Given the description of an element on the screen output the (x, y) to click on. 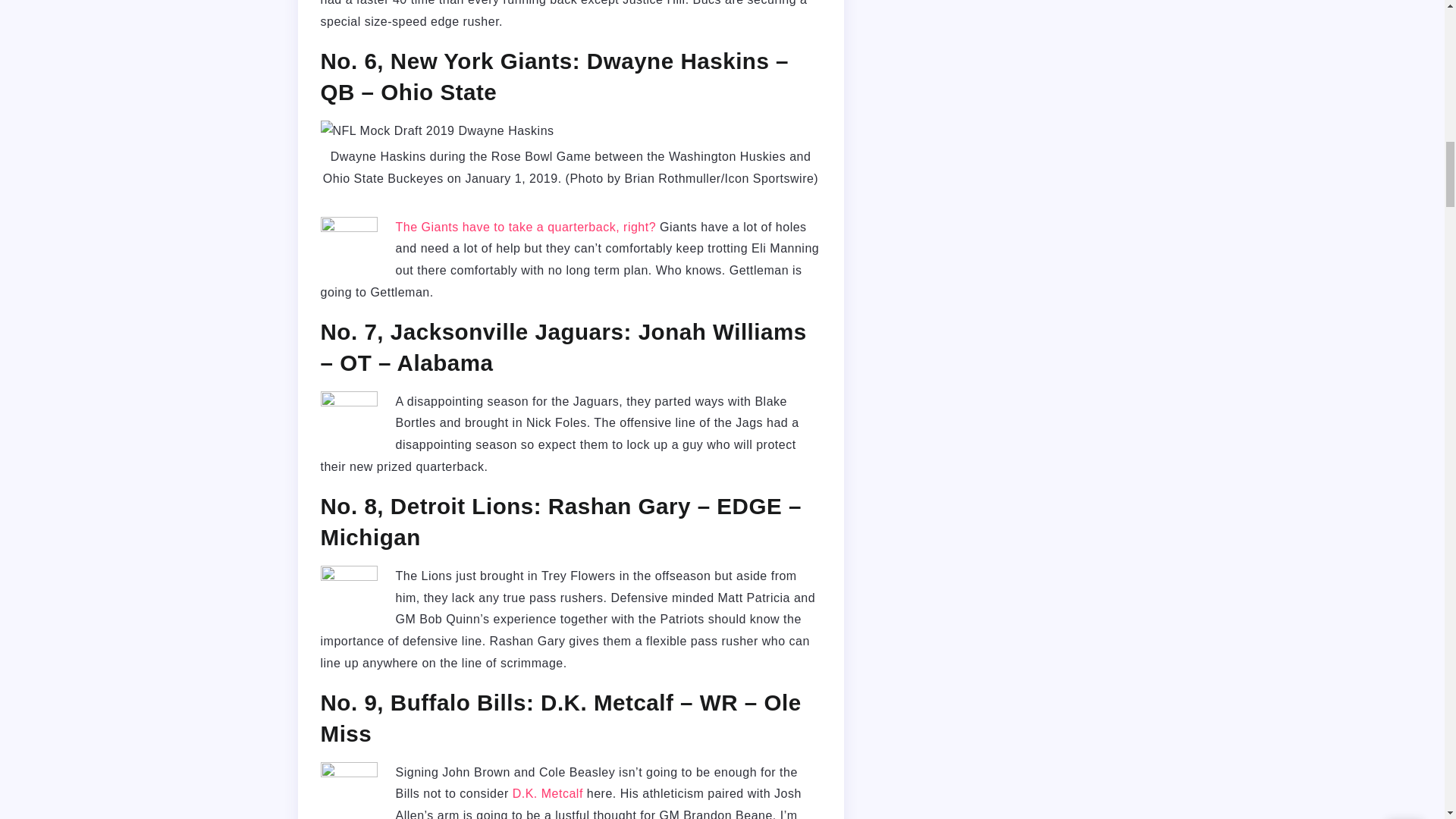
D.K. Metcalf (547, 793)
DK Metcalf fantasy news (547, 793)
The Giants have to take a quarterback, right? (526, 226)
